Given the description of an element on the screen output the (x, y) to click on. 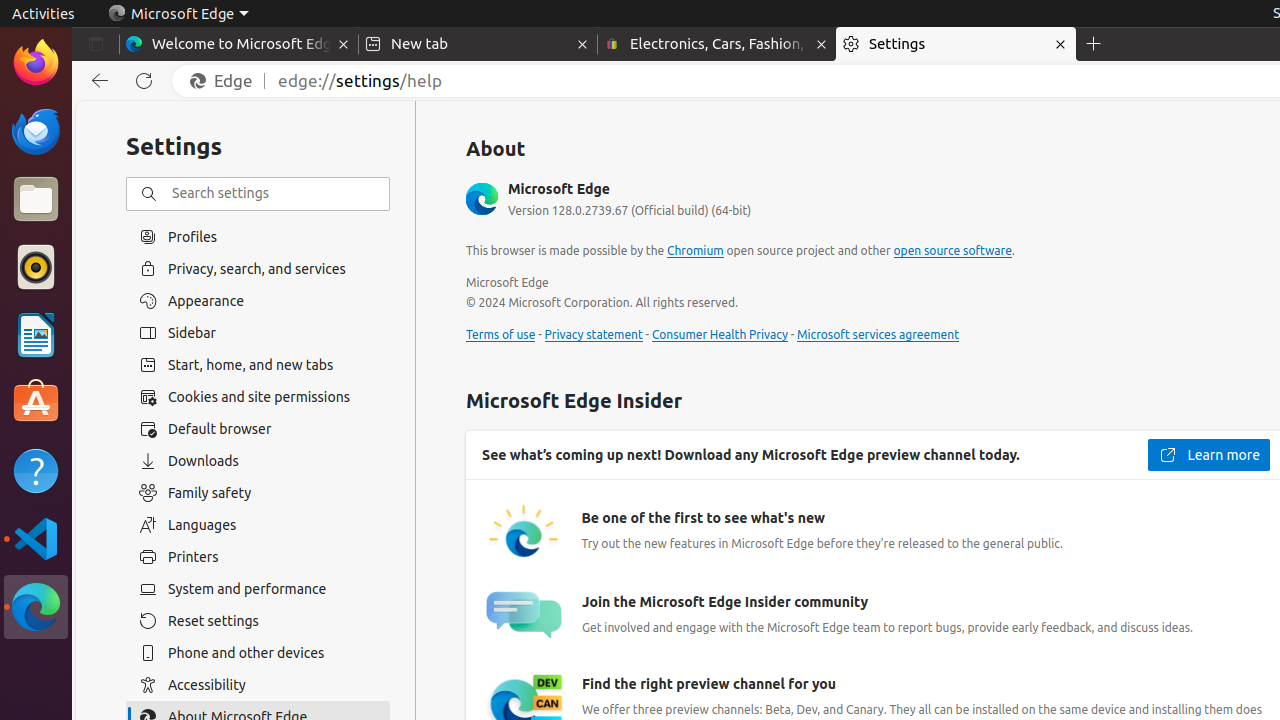
Rhythmbox Element type: push-button (36, 267)
New tab Element type: page-tab (478, 44)
Files Element type: push-button (36, 199)
Learn more about Microsoft Edge insider channels Element type: link (1208, 455)
Electronics, Cars, Fashion, Collectibles & More | eBay Element type: page-tab (717, 44)
